Given the description of an element on the screen output the (x, y) to click on. 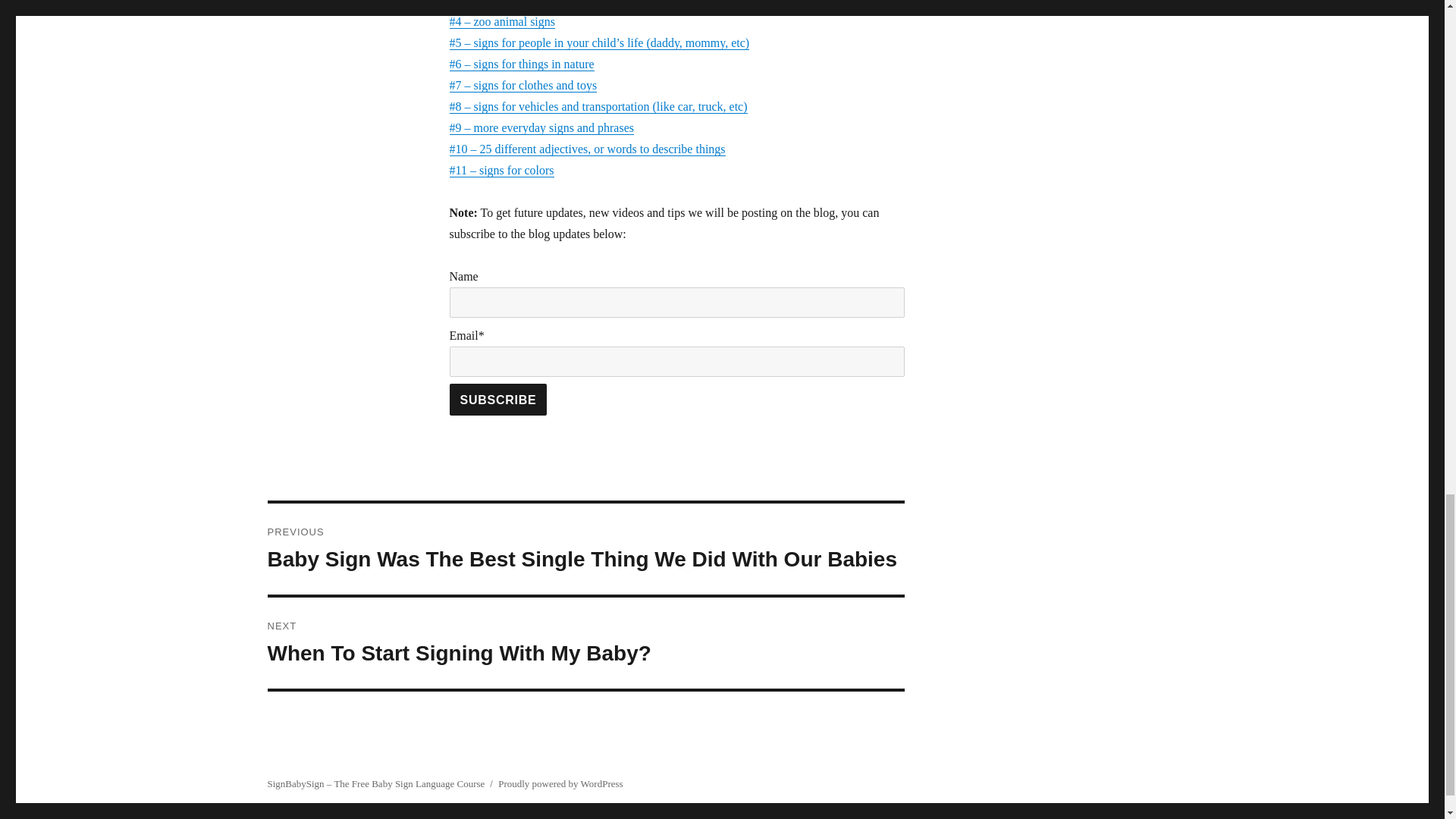
Subscribe (497, 399)
Subscribe (497, 399)
